Given the description of an element on the screen output the (x, y) to click on. 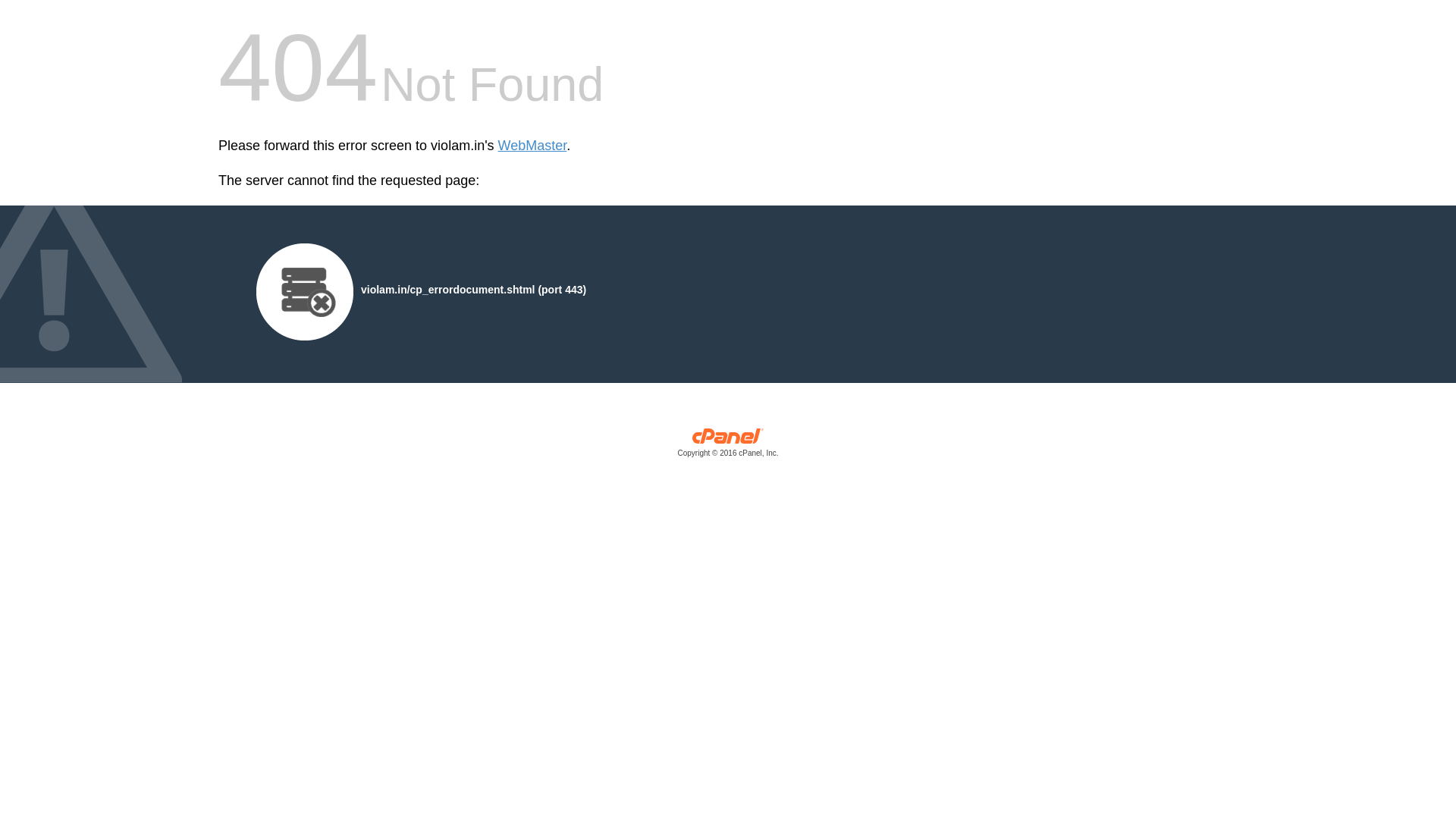
WebMaster (532, 145)
cPanel, Inc. (727, 446)
